Given the description of an element on the screen output the (x, y) to click on. 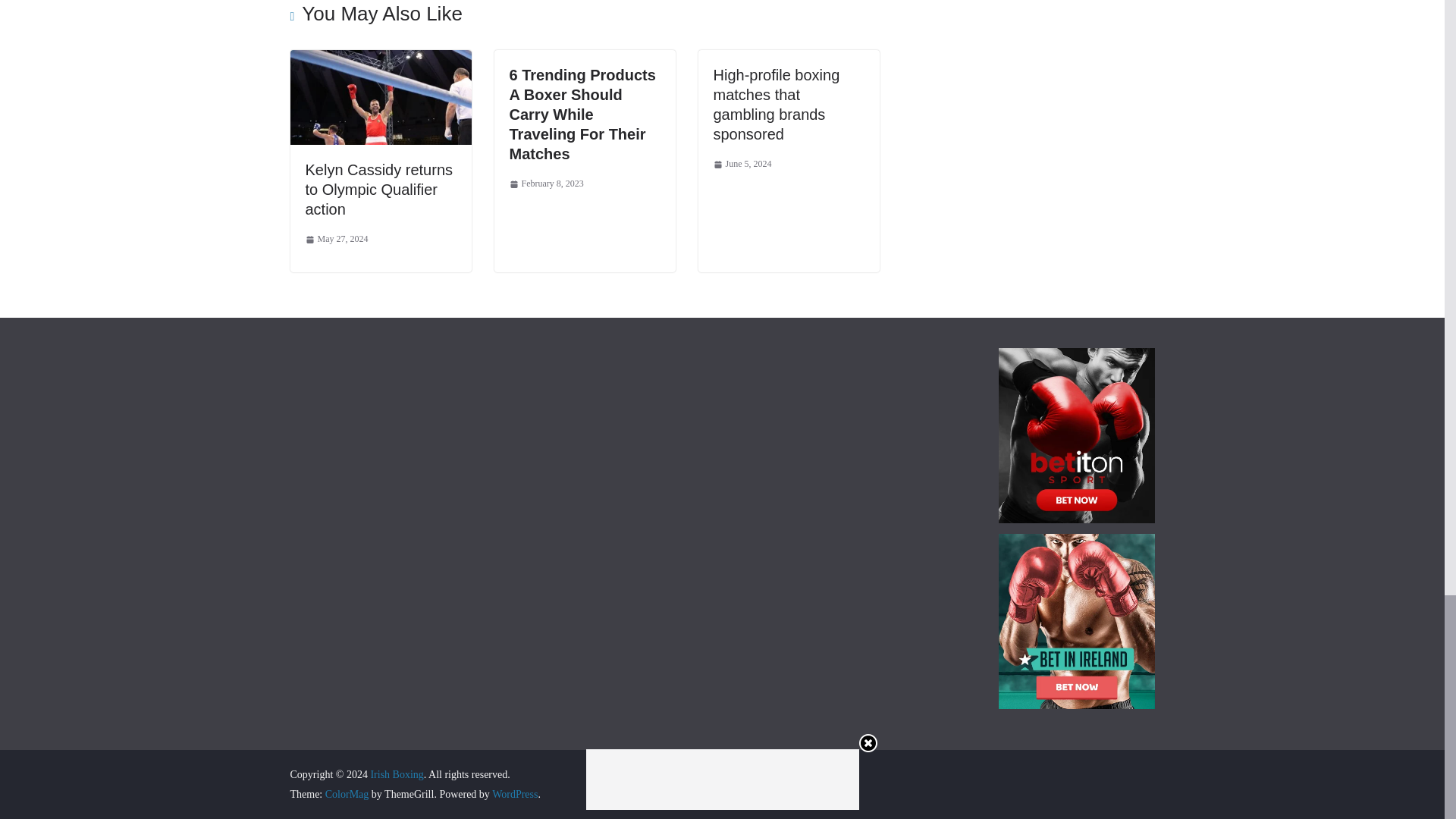
1:06 pm (742, 164)
Kelyn Cassidy returns to Olympic Qualifier action (379, 60)
High-profile boxing matches that gambling brands sponsored (776, 104)
1:06 am (336, 239)
June 5, 2024 (742, 164)
May 27, 2024 (336, 239)
WordPress (514, 794)
Irish Boxing (396, 774)
Kelyn Cassidy returns to Olympic Qualifier action (378, 189)
